Given the description of an element on the screen output the (x, y) to click on. 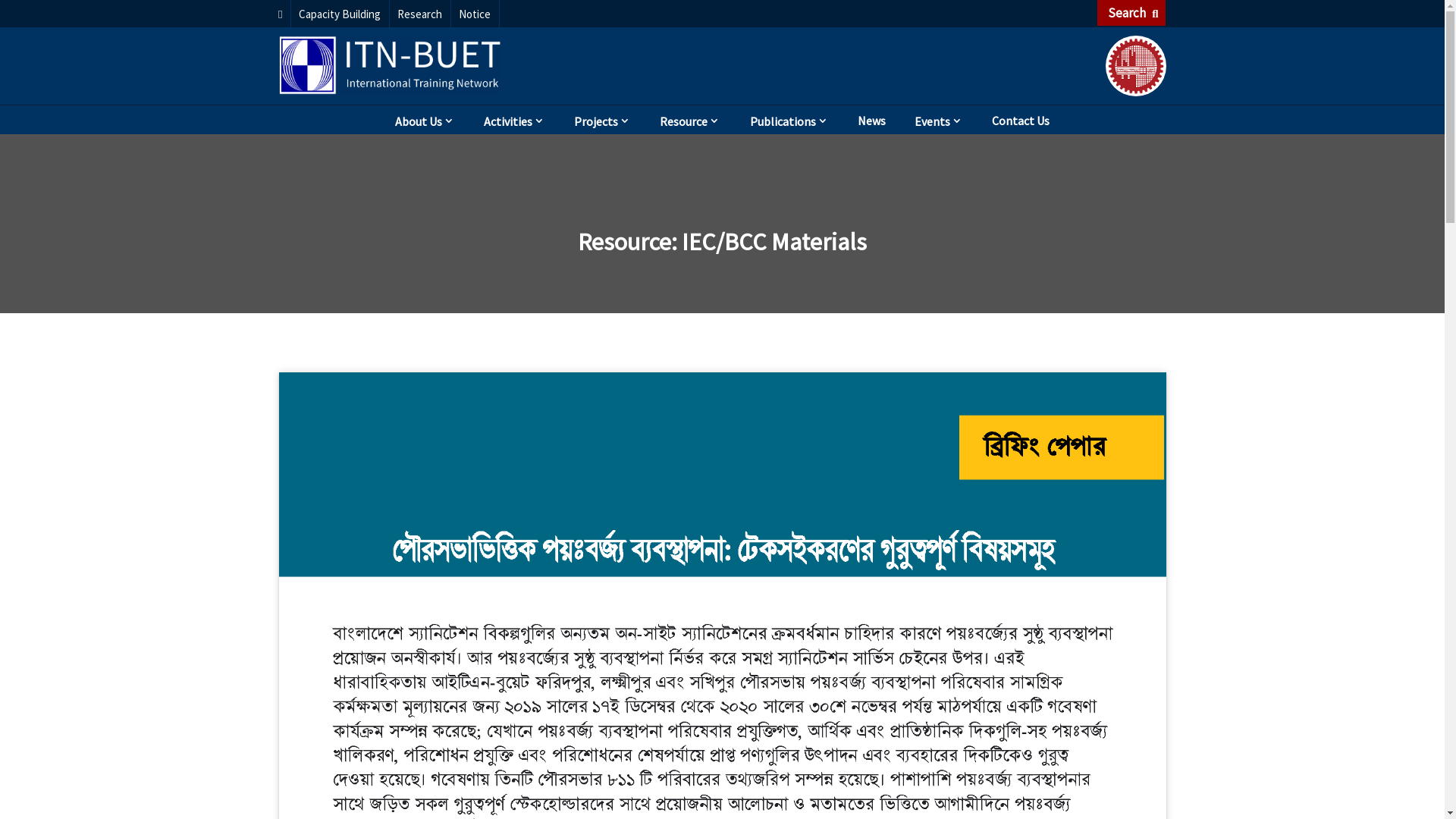
Resource Element type: text (689, 118)
Search Element type: text (1131, 12)
logo-buet-1 Element type: hover (1135, 65)
Contact Us Element type: text (1020, 118)
Capacity Building Element type: text (340, 13)
Projects Element type: text (602, 118)
About Us Element type: text (424, 118)
News Element type: text (871, 118)
Activities Element type: text (514, 118)
Notice Element type: text (475, 13)
ITN-BUET Element type: hover (390, 65)
Research Element type: text (420, 13)
IEC/BCC Materials Element type: text (773, 241)
Events Element type: text (938, 118)
Publications Element type: text (788, 118)
